Given the description of an element on the screen output the (x, y) to click on. 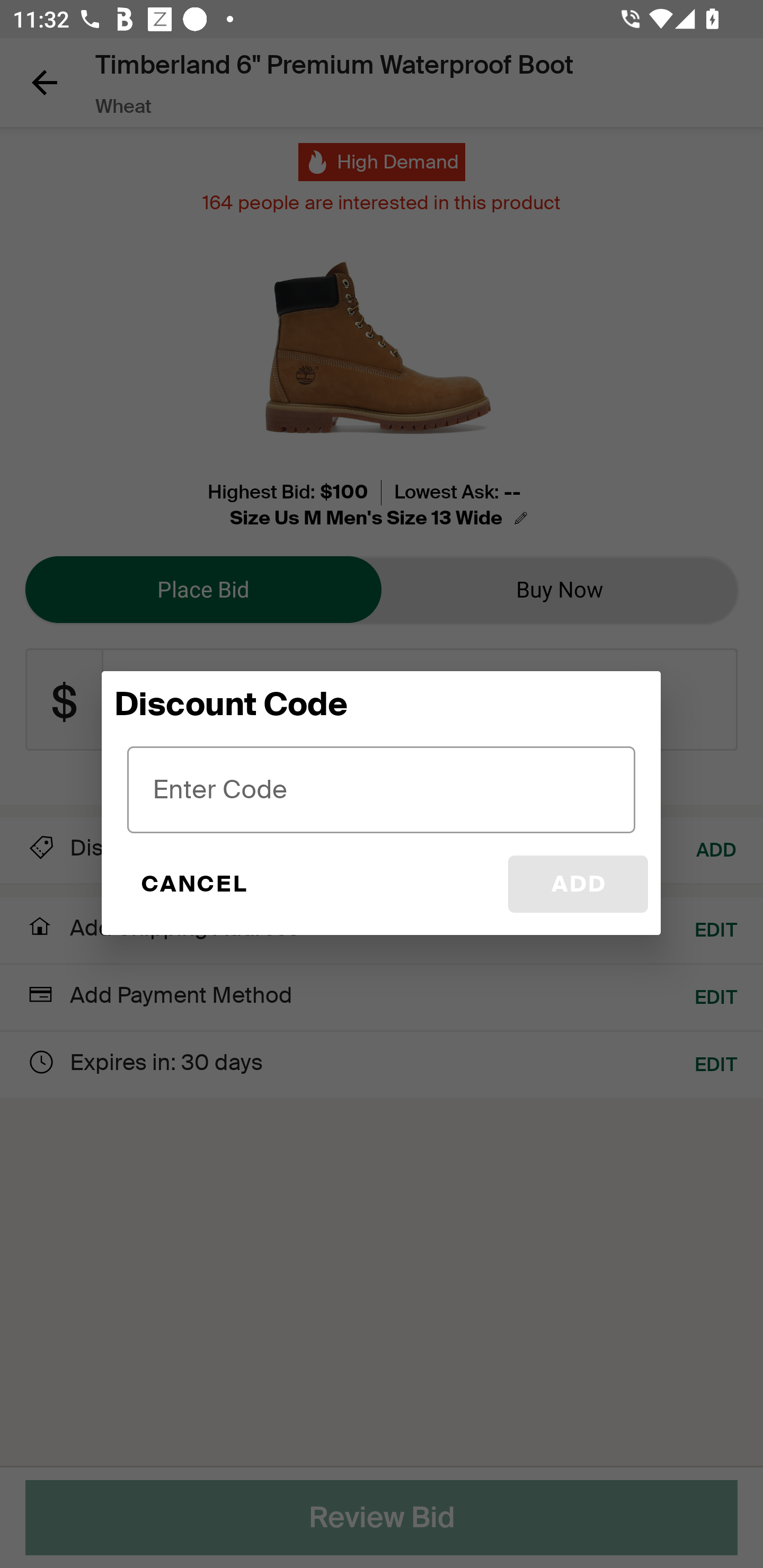
Enter Code (381, 789)
CANCEL (193, 883)
ADD (577, 883)
